Given the description of an element on the screen output the (x, y) to click on. 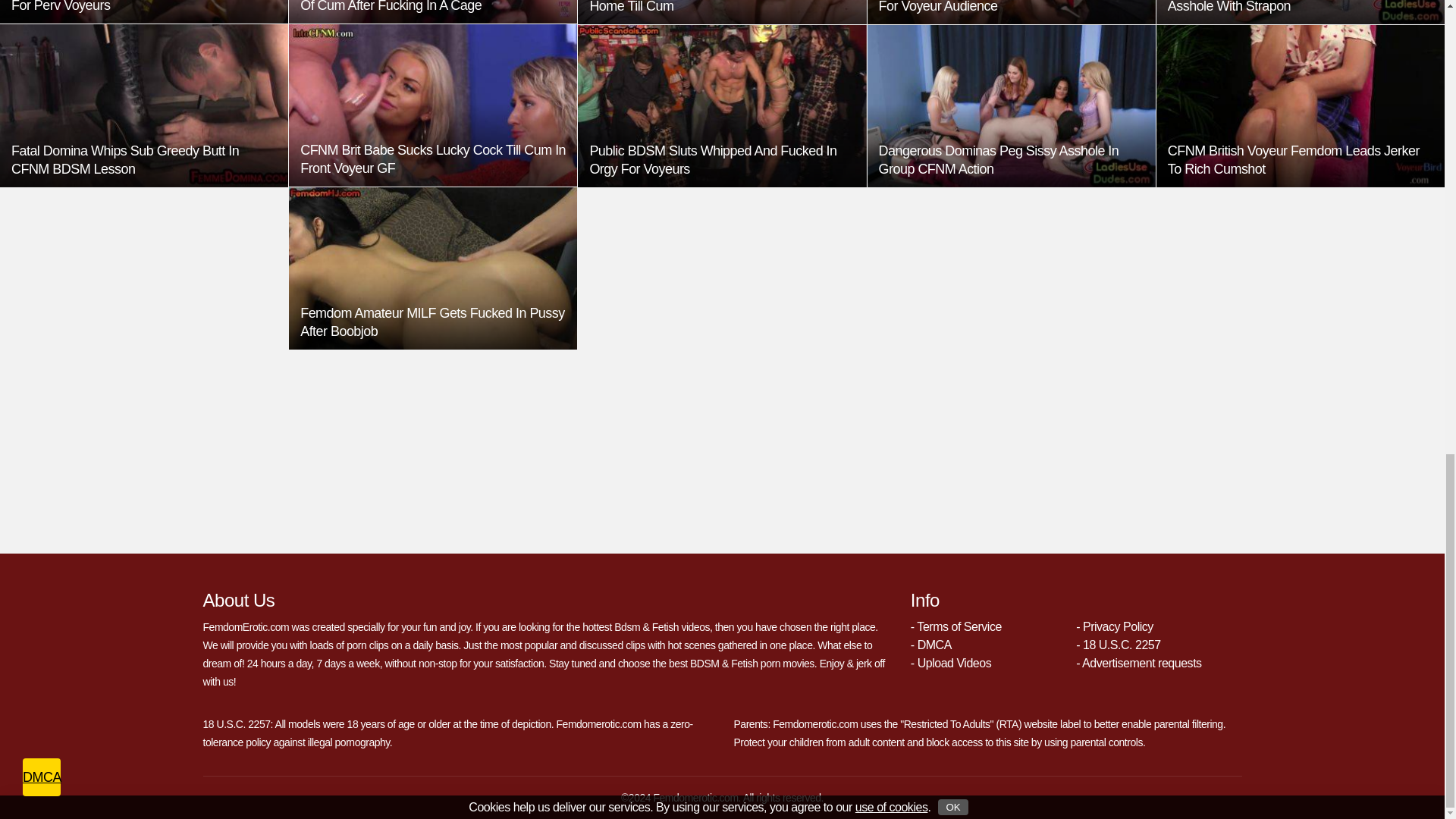
Public BDSM Ebony Deepthroats Hard Rod For Perv Voyeurs (144, 11)
